Given the description of an element on the screen output the (x, y) to click on. 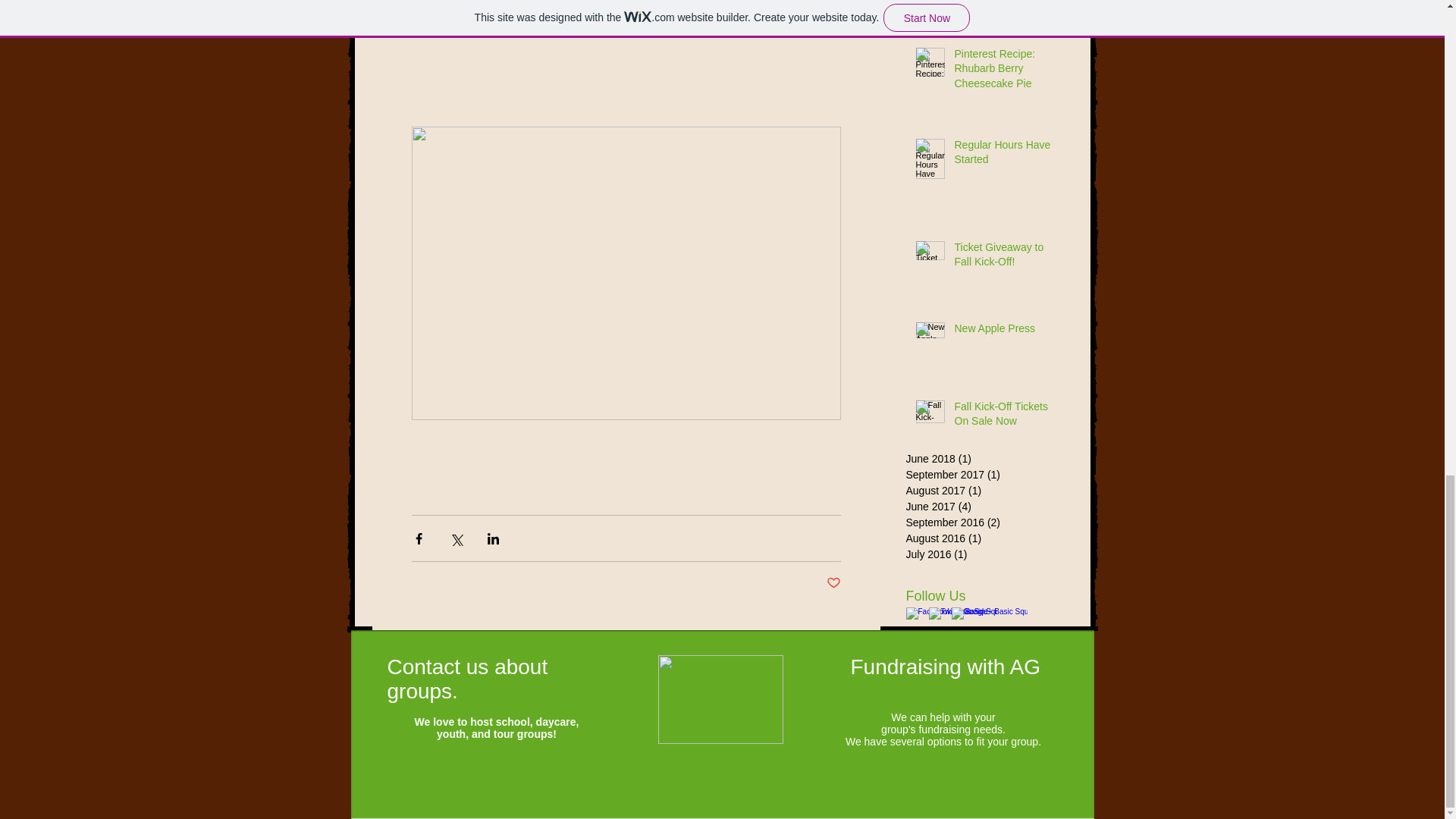
Regular Hours Have Started (1007, 155)
Pinterest Recipe: Rhubarb Berry Cheesecake Pie (1007, 71)
Fall Kick-Off Tickets On Sale Now (1007, 416)
Post not marked as liked (834, 583)
New Apple Press (1007, 332)
Victorian Shoppe Sweet Treats (1007, 0)
Ticket Giveaway to Fall Kick-Off! (1007, 258)
